Given the description of an element on the screen output the (x, y) to click on. 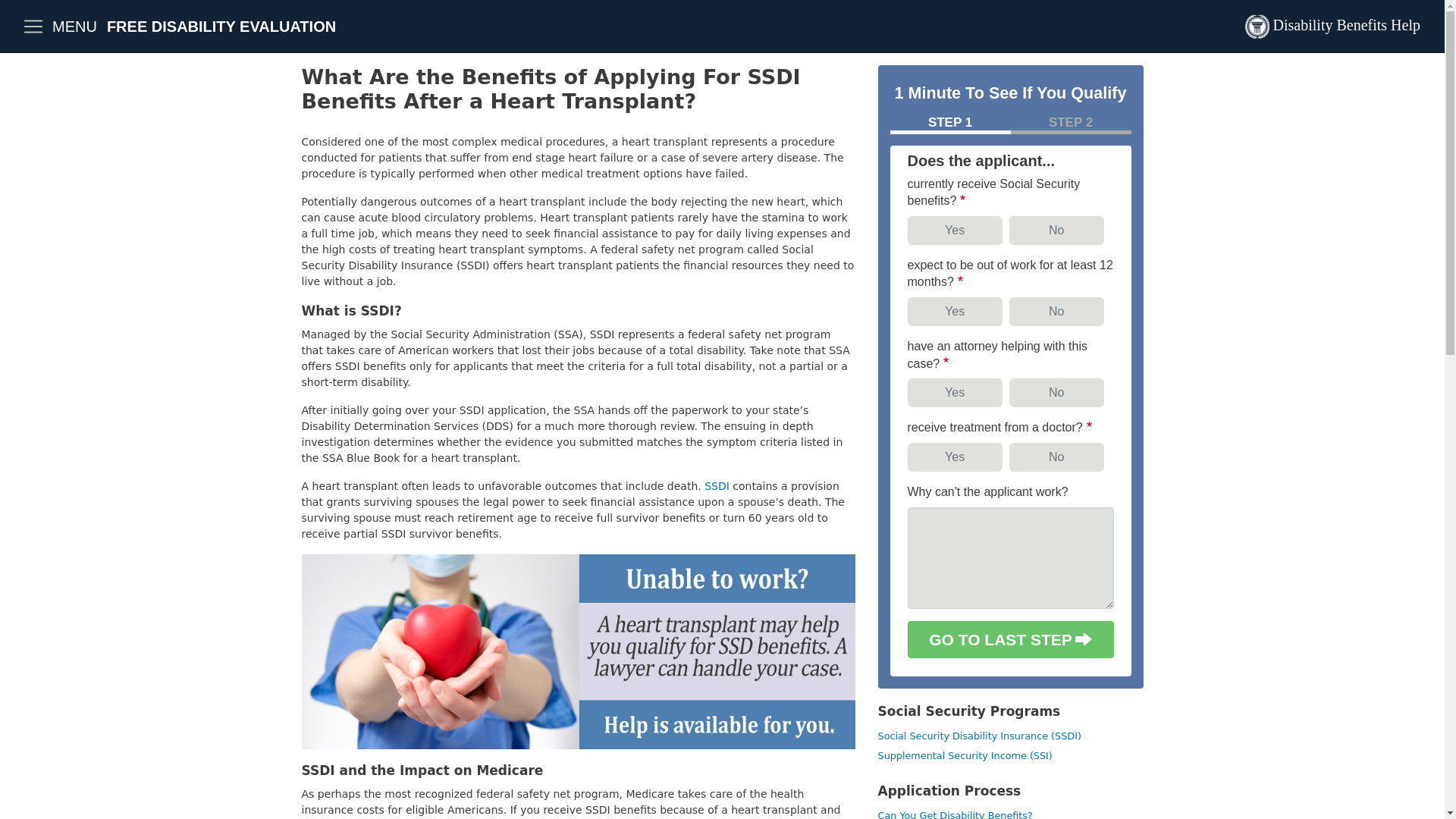
Home (1332, 26)
Disability Benefits Help (1332, 26)
FREE DISABILITY EVALUATION (221, 26)
MENU (58, 26)
Skip to main content (721, 1)
